Given the description of an element on the screen output the (x, y) to click on. 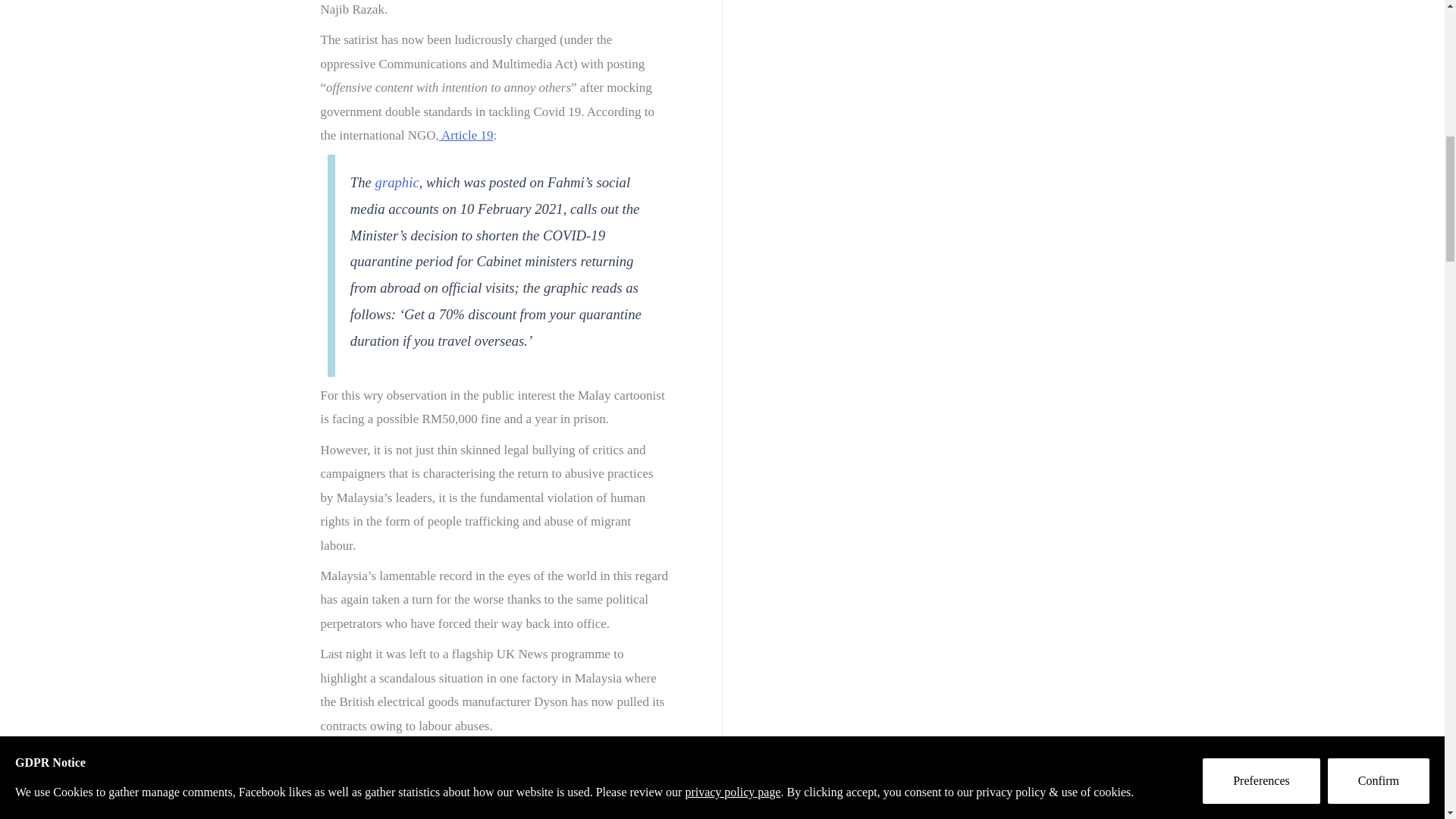
Advertisement (868, 48)
